Given the description of an element on the screen output the (x, y) to click on. 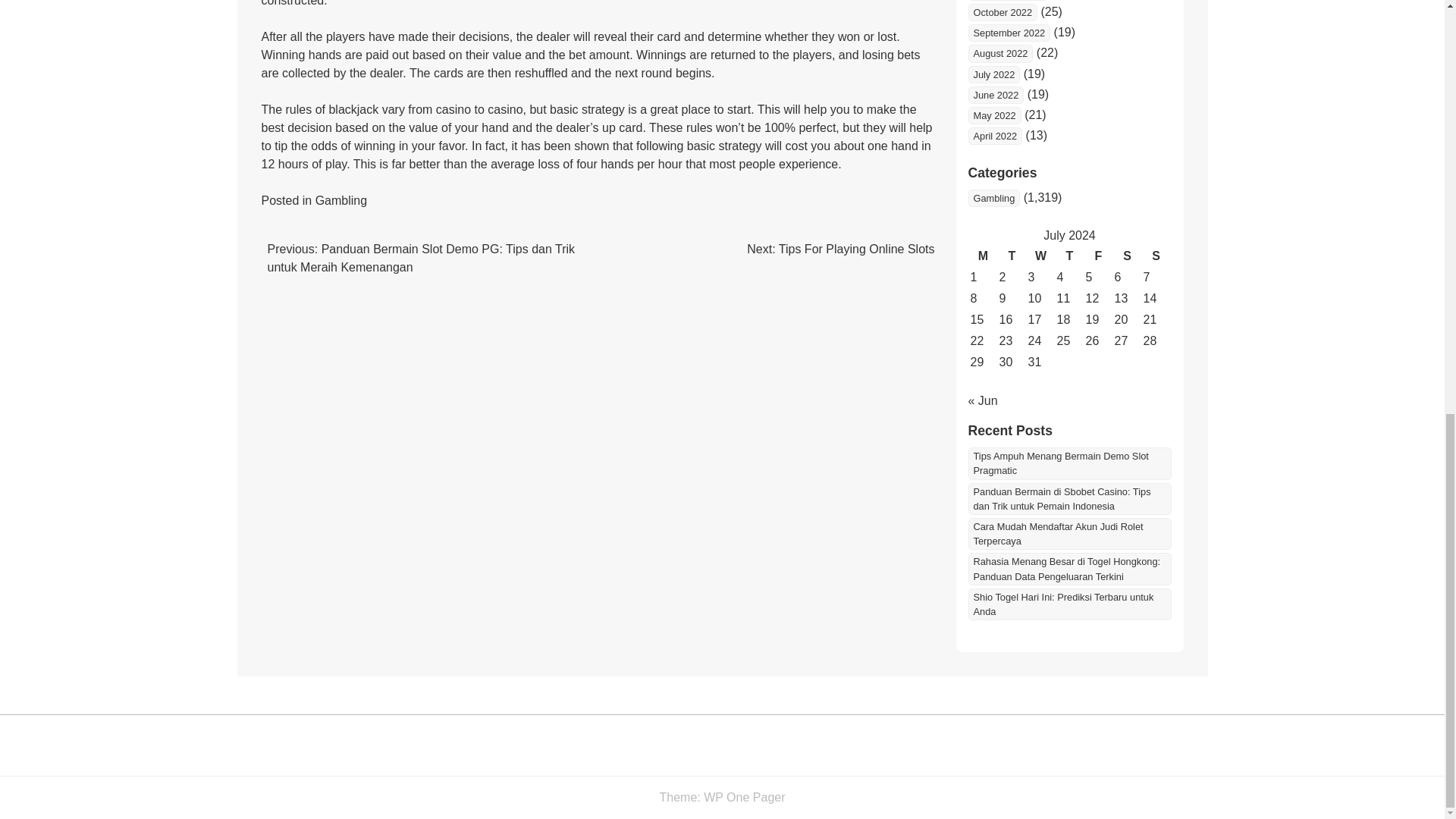
Gambling (994, 198)
Wednesday (1040, 256)
October 2022 (1002, 12)
May 2022 (994, 115)
June 2022 (995, 95)
August 2022 (1000, 53)
April 2022 (995, 135)
Saturday (1126, 256)
September 2022 (1008, 32)
Sunday (1155, 256)
Next: Tips For Playing Online Slots (840, 248)
Gambling (340, 200)
Tuesday (1011, 256)
July 2022 (994, 74)
